Given the description of an element on the screen output the (x, y) to click on. 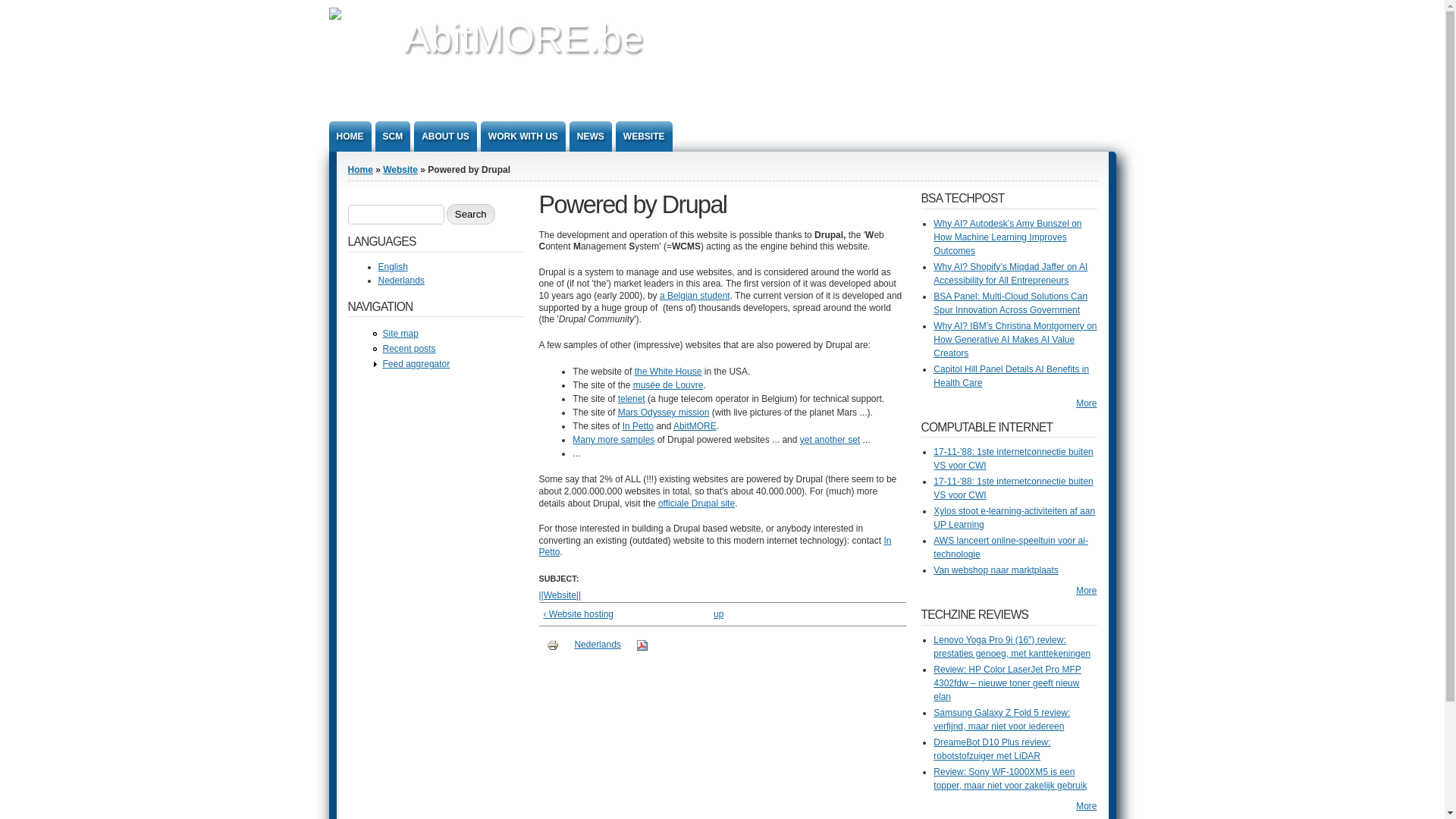
AWS lanceert online-speeltuin voor ai-technologie Element type: text (1010, 547)
Site map Element type: text (399, 333)
AbitMORE Element type: text (694, 425)
Enter the terms you wish to search for. Element type: hover (395, 214)
17-11-'88: 1ste internetconnectie buiten VS voor CWI Element type: text (1012, 488)
ABOUT US Element type: text (445, 136)
In Petto Element type: text (637, 425)
In Petto Element type: text (714, 546)
a Belgian student Element type: text (694, 295)
Xylos stoot e-learning-activiteiten af aan UP Learning Element type: text (1014, 517)
up Element type: text (718, 614)
Printer-friendly version Element type: hover (552, 645)
WEBSITE Element type: text (643, 136)
Home Element type: text (359, 169)
SCM Element type: text (392, 136)
DreameBot D10 Plus review: robotstofzuiger met LiDAR Element type: text (991, 749)
English Element type: text (392, 266)
officiale Drupal site Element type: text (696, 503)
Many more samples Element type: text (613, 439)
telenet Element type: text (631, 398)
Van webshop naar marktplaats Element type: text (995, 569)
||Website|| Element type: text (559, 594)
Feed aggregator Element type: text (415, 363)
More Element type: text (1086, 590)
Display a printer-friendly version of this page. Element type: hover (552, 644)
yet another set Element type: text (829, 439)
Recent posts Element type: text (408, 348)
Mars Odyssey mission Element type: text (663, 412)
Nederlands Element type: text (400, 280)
Back to homepage Element type: hover (362, 14)
Search Element type: text (470, 213)
PDF version Element type: hover (642, 645)
17-11-'88: 1ste internetconnectie buiten VS voor CWI Element type: text (1012, 458)
Capitol Hill Panel Details AI Benefits in Health Care Element type: text (1010, 376)
Website Element type: text (399, 169)
Display a PDF version of this page. Element type: hover (642, 644)
More Element type: text (1086, 403)
NEWS Element type: text (590, 136)
AbitMORE.be Element type: text (523, 37)
the White House Element type: text (668, 371)
HOME Element type: text (350, 136)
Nederlands Element type: text (597, 644)
Jump to Content Element type: text (33, 7)
WORK WITH US Element type: text (522, 136)
More Element type: text (1086, 805)
